Given the description of an element on the screen output the (x, y) to click on. 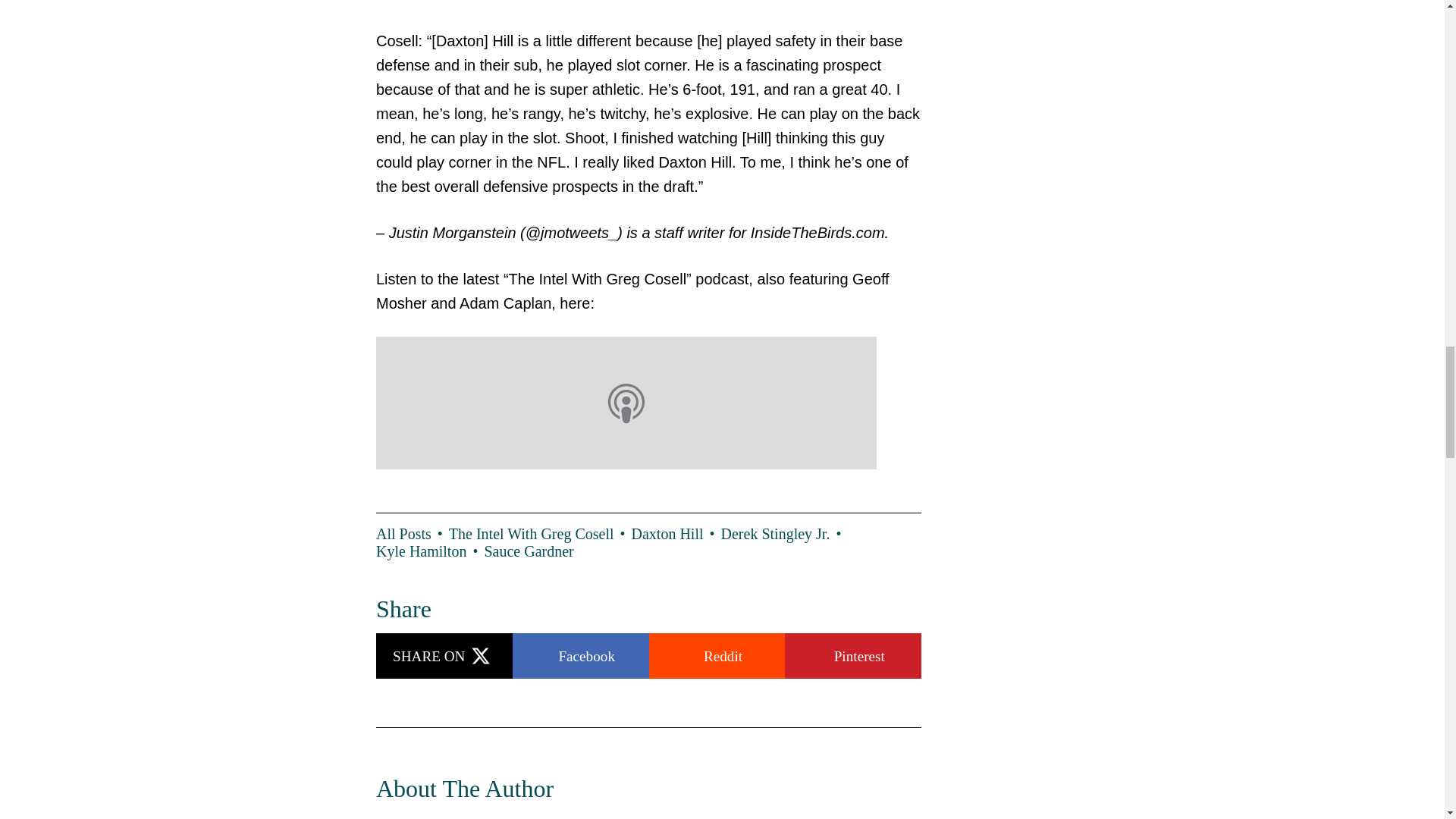
Daxton Hill (675, 533)
Facebook (580, 655)
Reddit (717, 655)
Kyle Hamilton (429, 551)
All Posts (411, 533)
Share to X (443, 655)
The Intel With Greg Cosell (539, 533)
Pinterest (852, 655)
Derek Stingley Jr. (783, 533)
SHARE ON (443, 655)
